Given the description of an element on the screen output the (x, y) to click on. 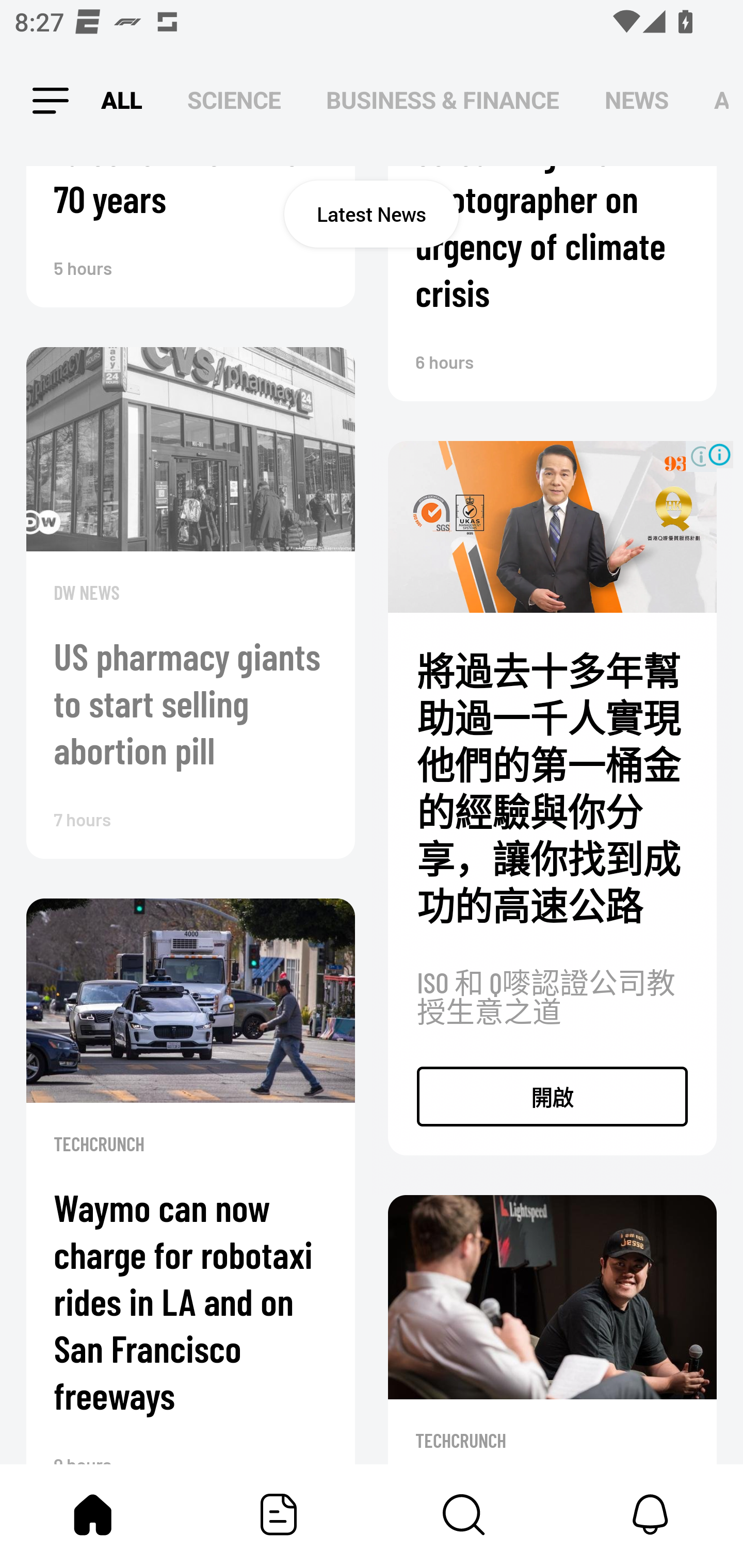
Leading Icon (42, 101)
SCIENCE (233, 100)
BUSINESS & FINANCE (442, 100)
NEWS (636, 100)
Latest News (371, 213)
Ad Choices Icon (719, 454)
Featured (278, 1514)
Content Store (464, 1514)
Notifications (650, 1514)
